Given the description of an element on the screen output the (x, y) to click on. 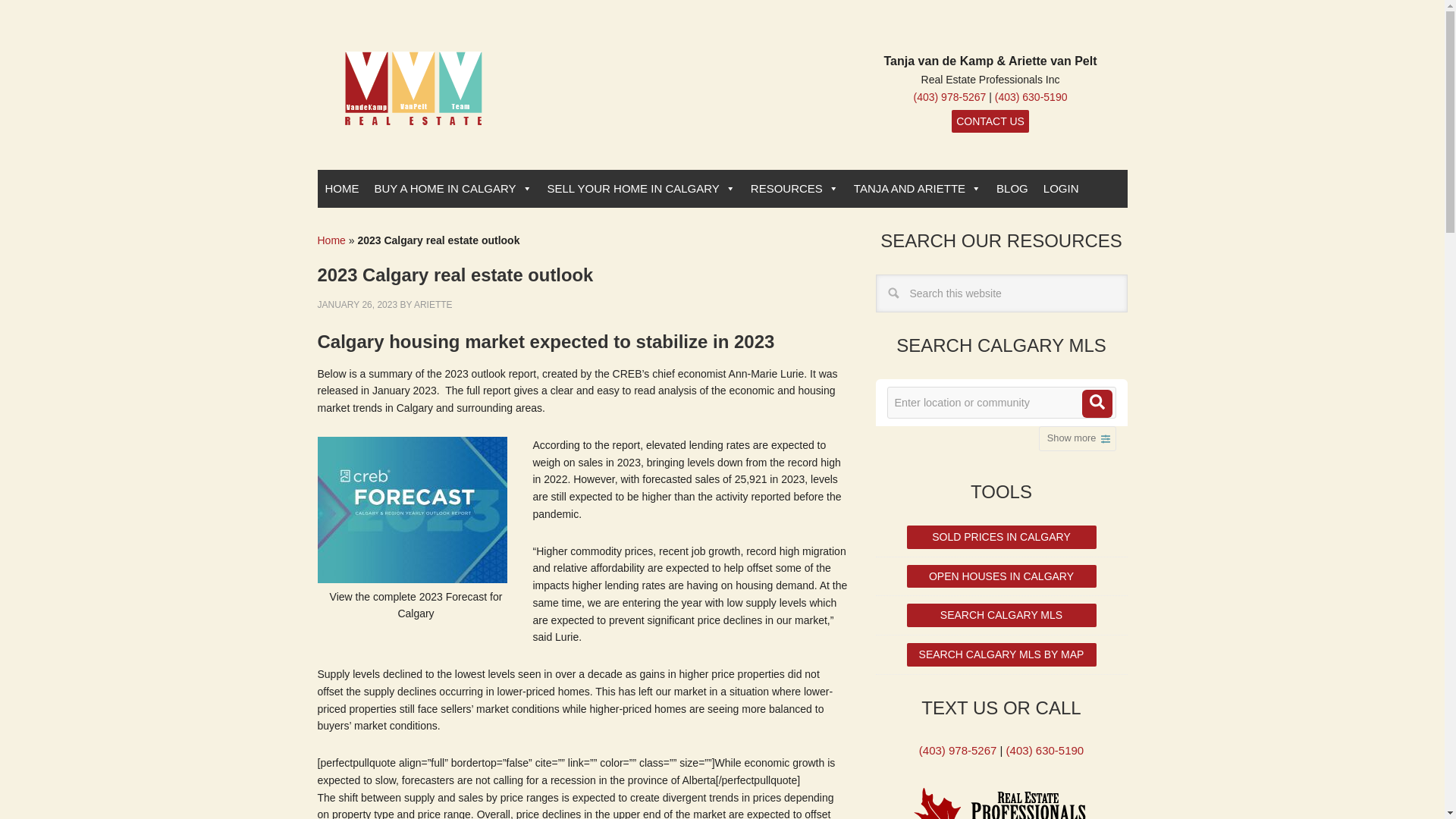
MLS LISTING REALTOR (412, 104)
CONTACT US (990, 120)
HOME (341, 188)
Contact Us (990, 120)
BUY A HOME IN CALGARY (453, 188)
